Given the description of an element on the screen output the (x, y) to click on. 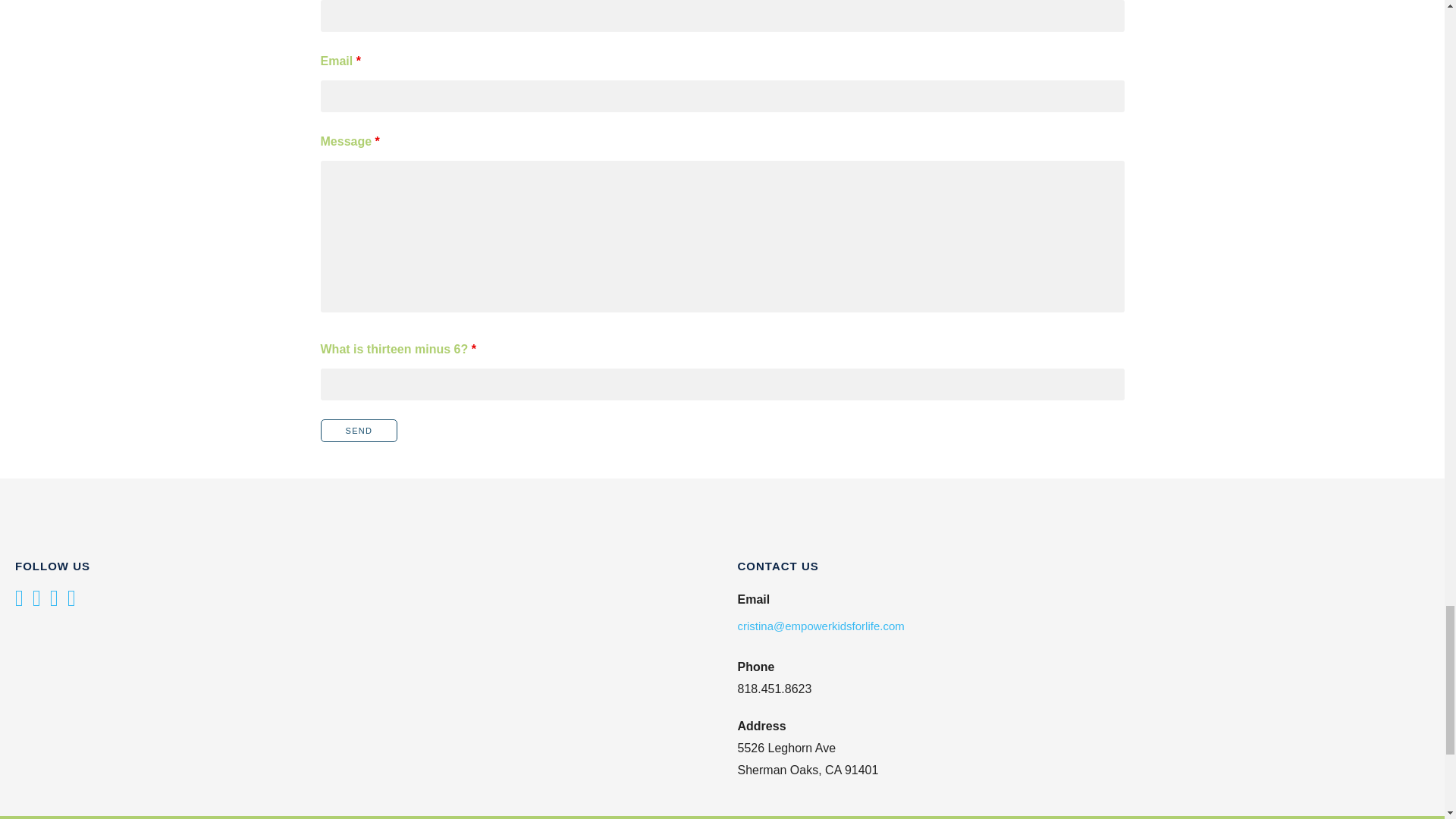
Send (358, 430)
Send (358, 430)
